Given the description of an element on the screen output the (x, y) to click on. 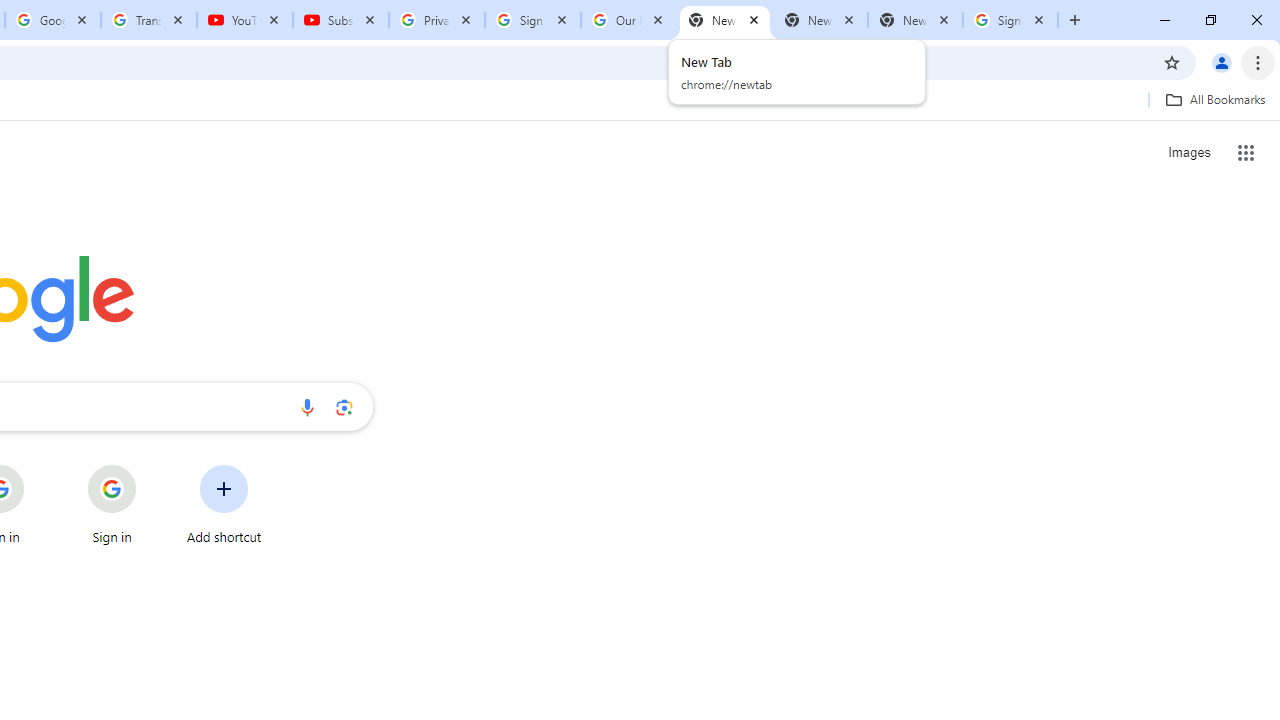
Sign in - Google Accounts (533, 20)
Search by voice (307, 407)
All Bookmarks (1215, 99)
